Given the description of an element on the screen output the (x, y) to click on. 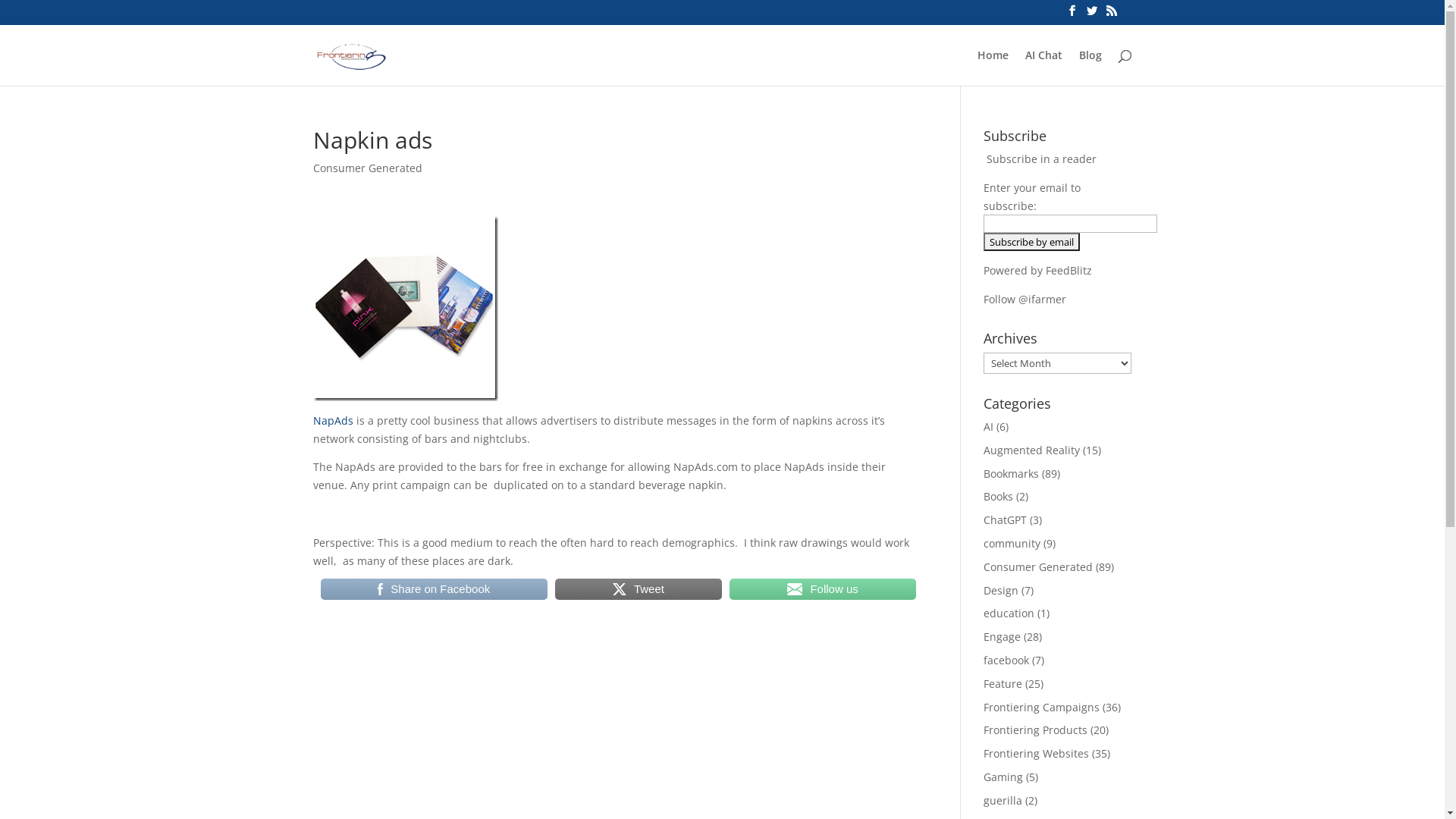
Subscribe by email Element type: text (1031, 241)
Design Element type: text (1000, 590)
community Element type: text (1011, 543)
Frontiering Products Element type: text (1035, 729)
education Element type: text (1008, 612)
Books Element type: text (998, 496)
Follow us Element type: text (822, 589)
AI Chat Element type: text (1043, 67)
Subscribe in a reader Element type: text (1041, 158)
Home Element type: text (991, 67)
Bookmarks Element type: text (1010, 473)
Frontiering Websites Element type: text (1035, 753)
FeedBlitz Element type: text (1068, 270)
Consumer Generated Element type: text (1037, 566)
Blog Element type: text (1089, 67)
Consumer Generated Element type: text (366, 167)
Share on Facebook Element type: text (433, 589)
guerilla Element type: text (1002, 800)
Follow @ifarmer Element type: text (1024, 298)
Feature Element type: text (1002, 683)
facebook Element type: text (1006, 659)
Frontiering Campaigns Element type: text (1041, 706)
AI Element type: text (988, 426)
Augmented Reality Element type: text (1031, 449)
Gaming Element type: text (1002, 776)
NapAds Element type: text (332, 420)
Engage Element type: text (1001, 636)
ChatGPT Element type: text (1004, 519)
Tweet Element type: text (638, 589)
